Given the description of an element on the screen output the (x, y) to click on. 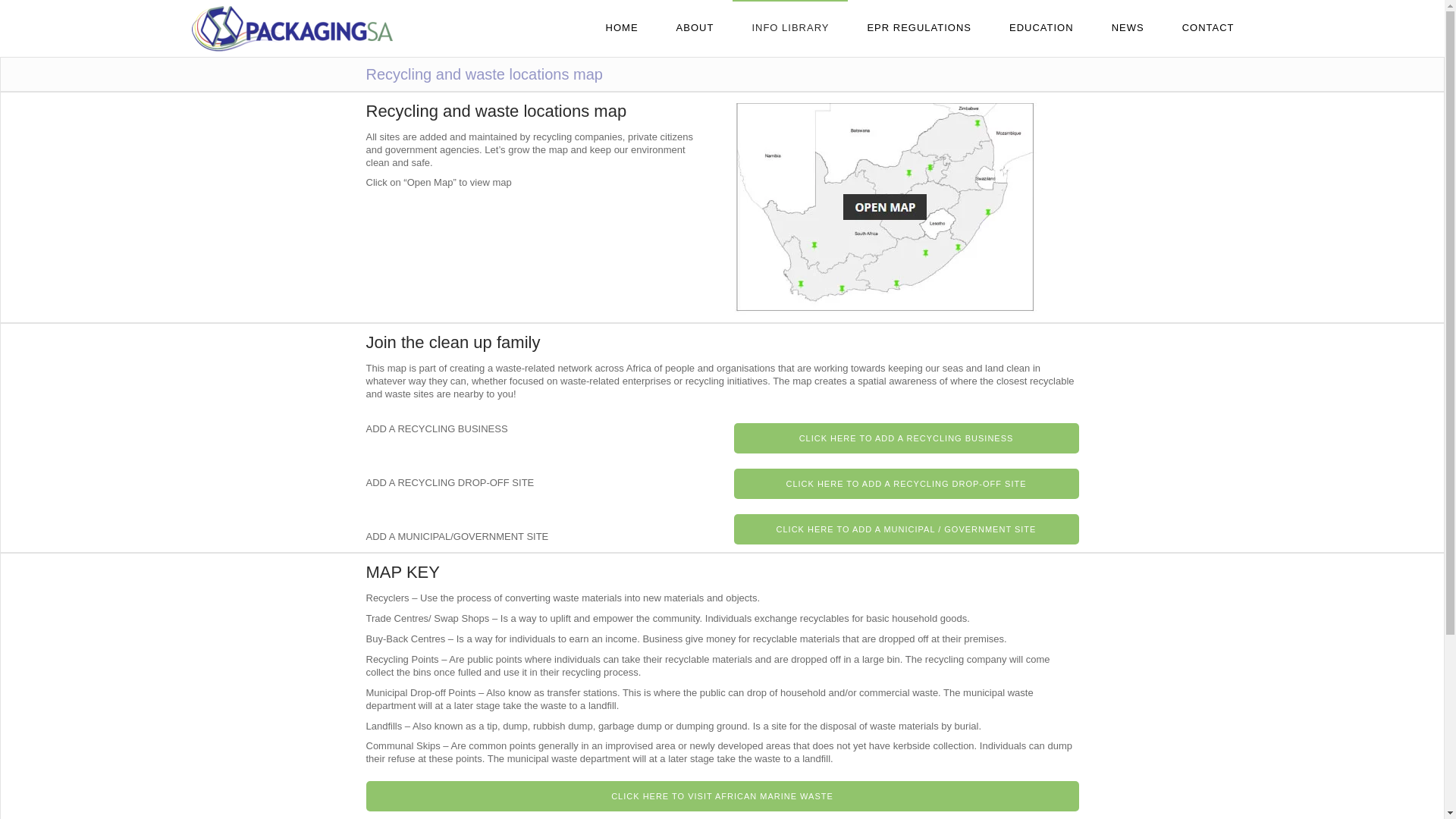
ABOUT (695, 28)
HOME (622, 28)
INFO LIBRARY (789, 28)
